Given the description of an element on the screen output the (x, y) to click on. 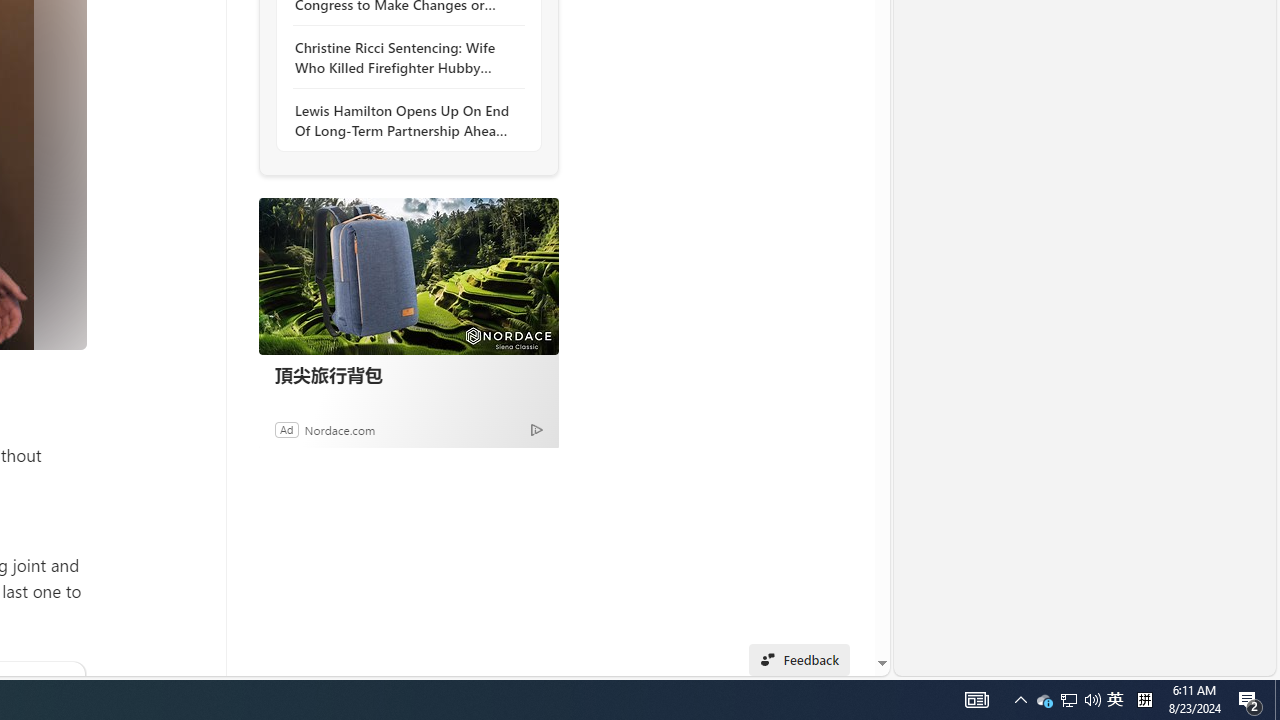
Ad Choice (535, 429)
Ad (286, 429)
Feedback (798, 659)
Nordace.com (339, 429)
